Given the description of an element on the screen output the (x, y) to click on. 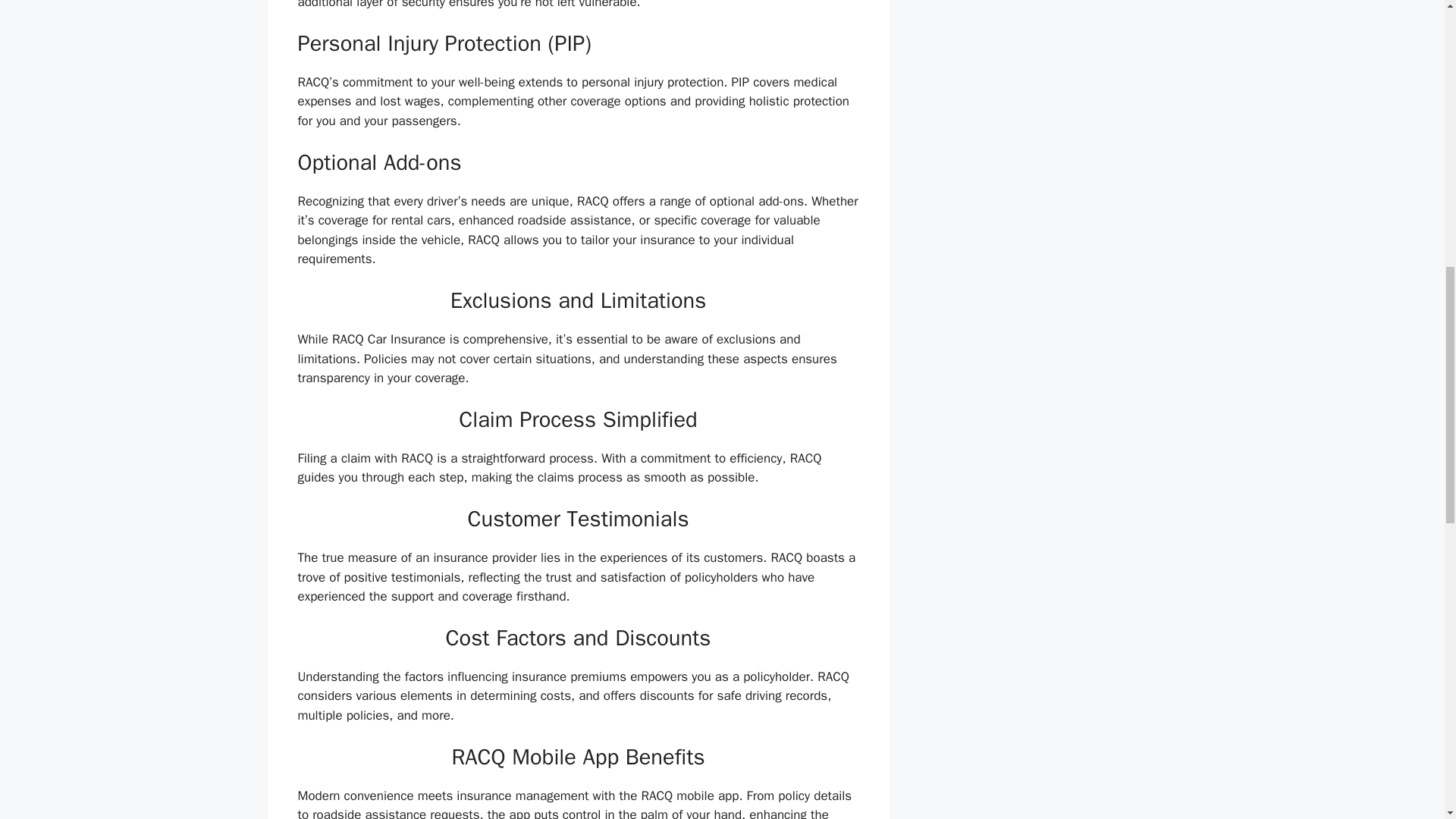
Scroll back to top (1406, 720)
